Given the description of an element on the screen output the (x, y) to click on. 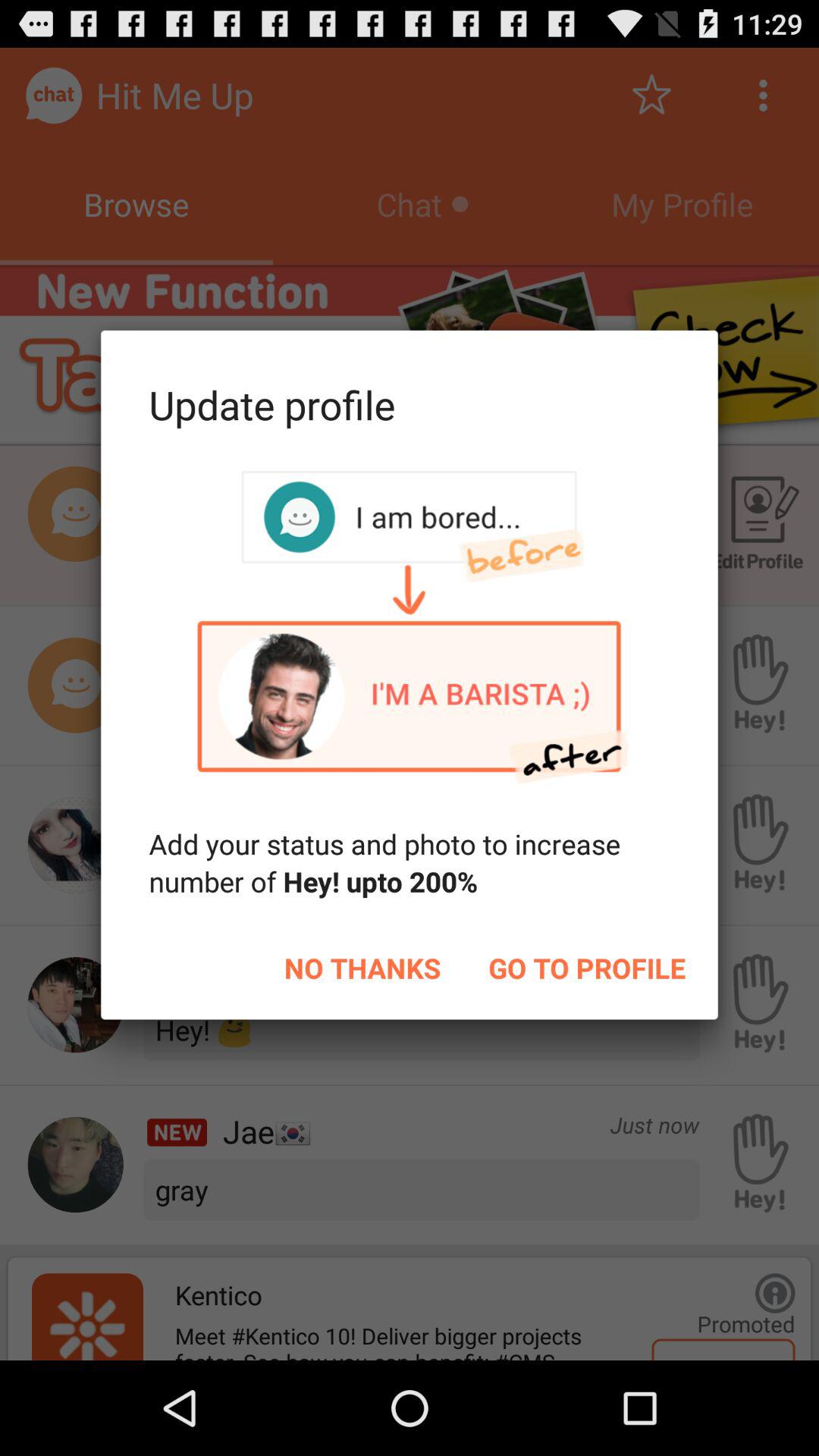
turn off item on the right (586, 967)
